Given the description of an element on the screen output the (x, y) to click on. 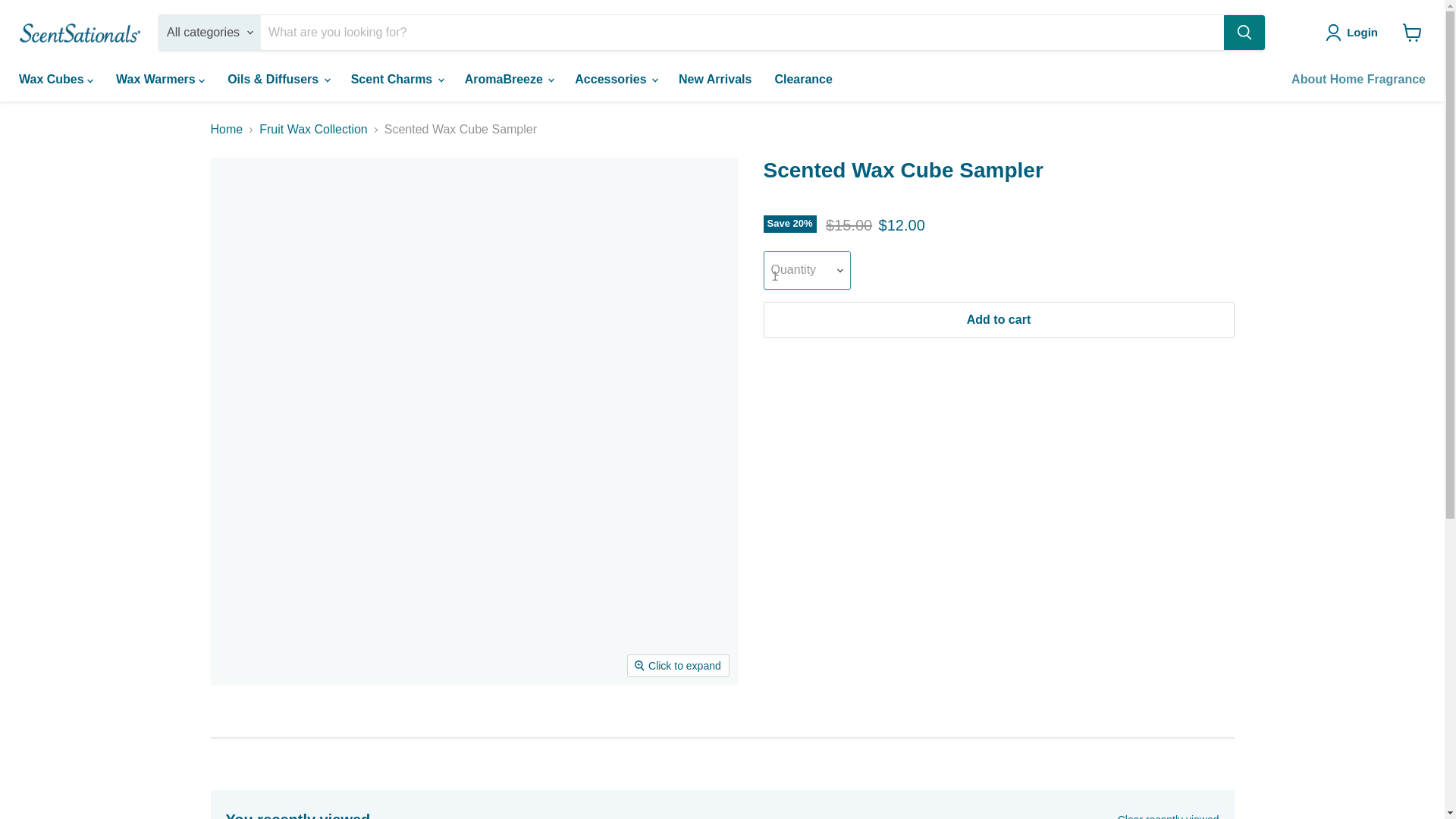
Wax Cubes (55, 79)
Login (1362, 32)
View cart (1411, 32)
Wax Warmers (159, 79)
